Given the description of an element on the screen output the (x, y) to click on. 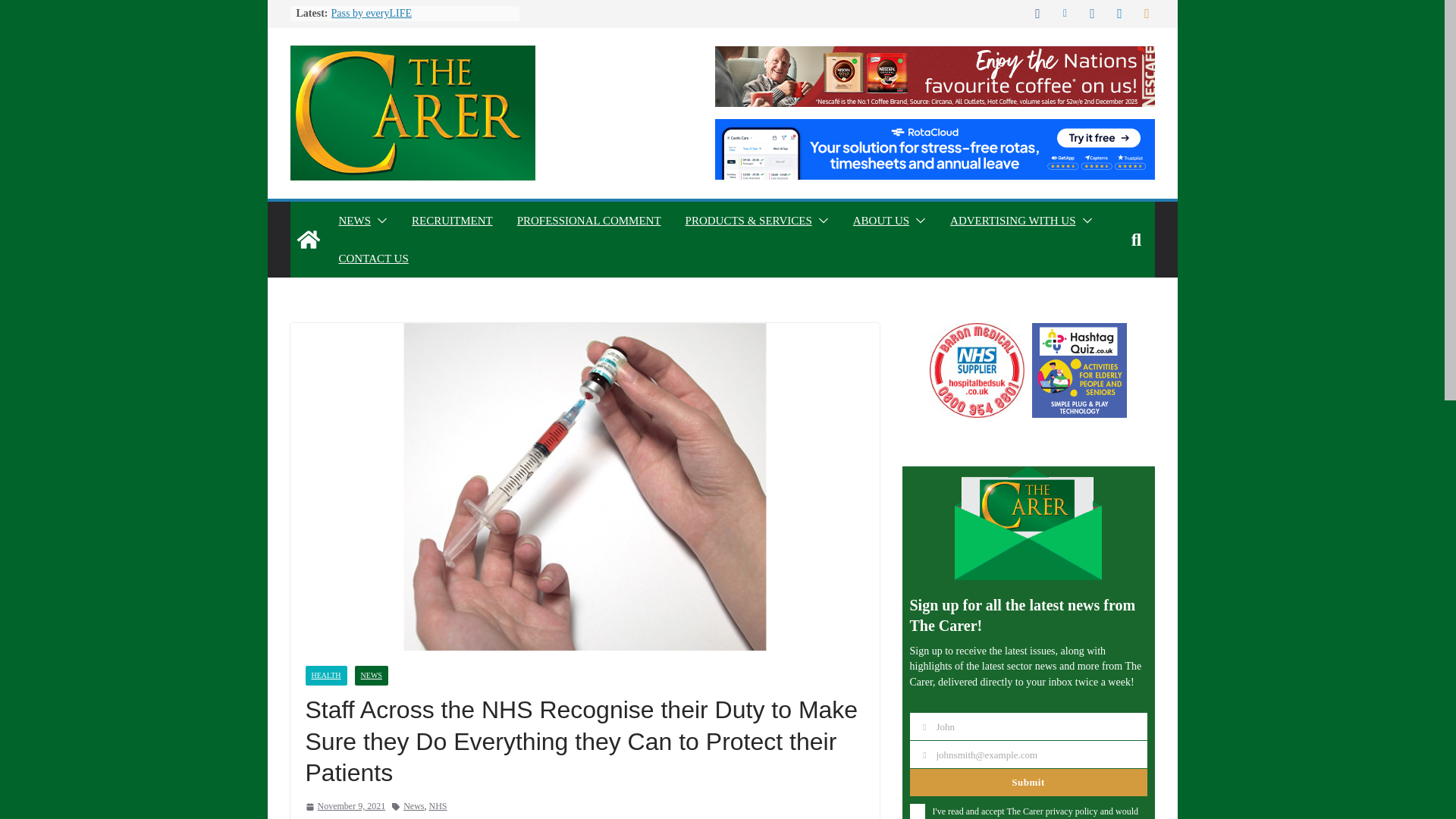
PROFESSIONAL COMMENT (588, 220)
Pass by everyLIFE (371, 12)
Pass by everyLIFE (371, 12)
NEWS (354, 220)
The Carer (307, 239)
RECRUITMENT (452, 220)
11:37 am (344, 806)
